Given the description of an element on the screen output the (x, y) to click on. 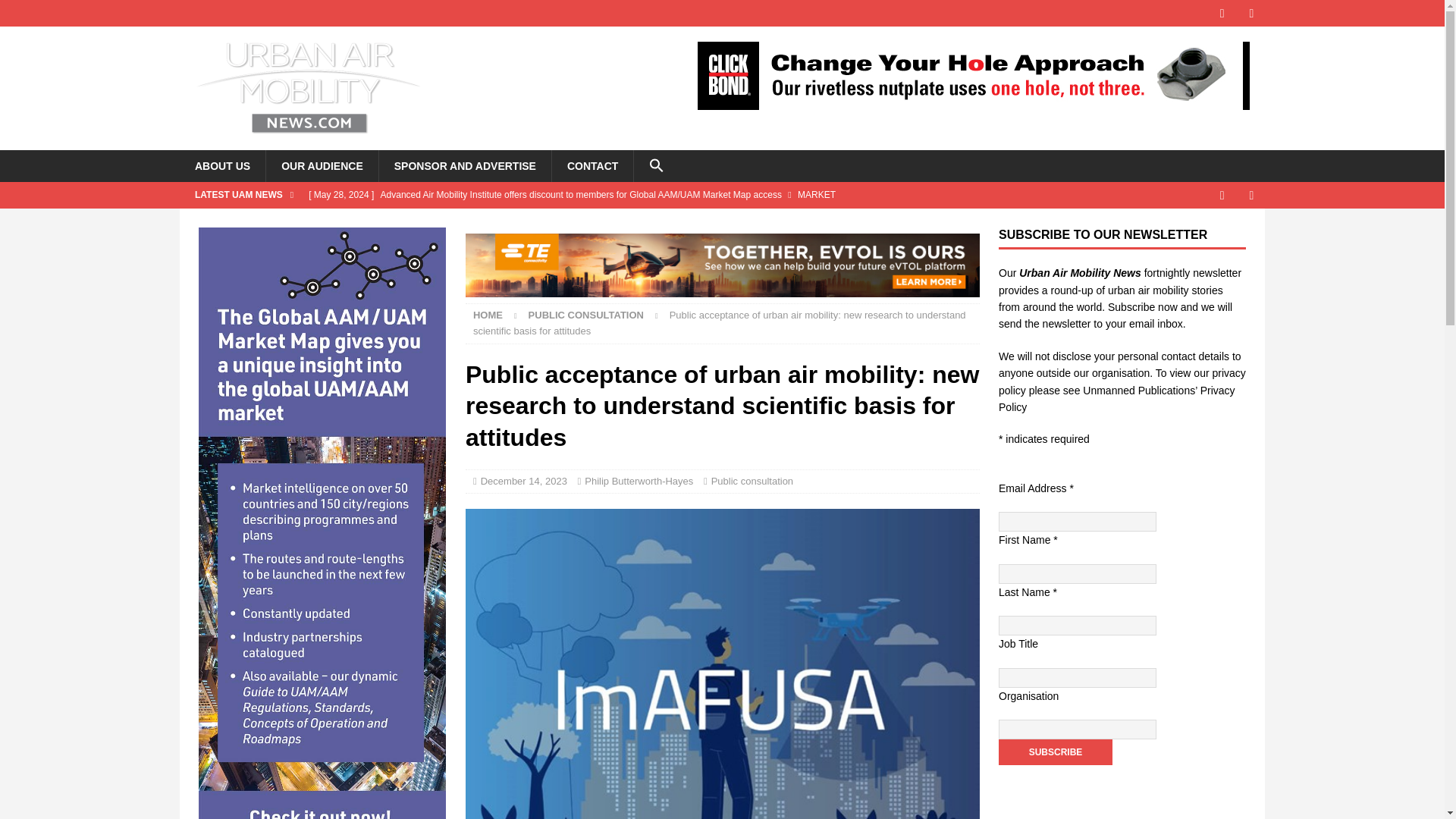
SPONSOR AND ADVERTISE (464, 165)
Philip Butterworth-Hayes (639, 480)
Home (487, 315)
CONTACT (592, 165)
PUBLIC CONSULTATION (585, 315)
ABOUT US (221, 165)
December 14, 2023 (523, 480)
Subscribe (1055, 751)
Public consultation (585, 315)
